Given the description of an element on the screen output the (x, y) to click on. 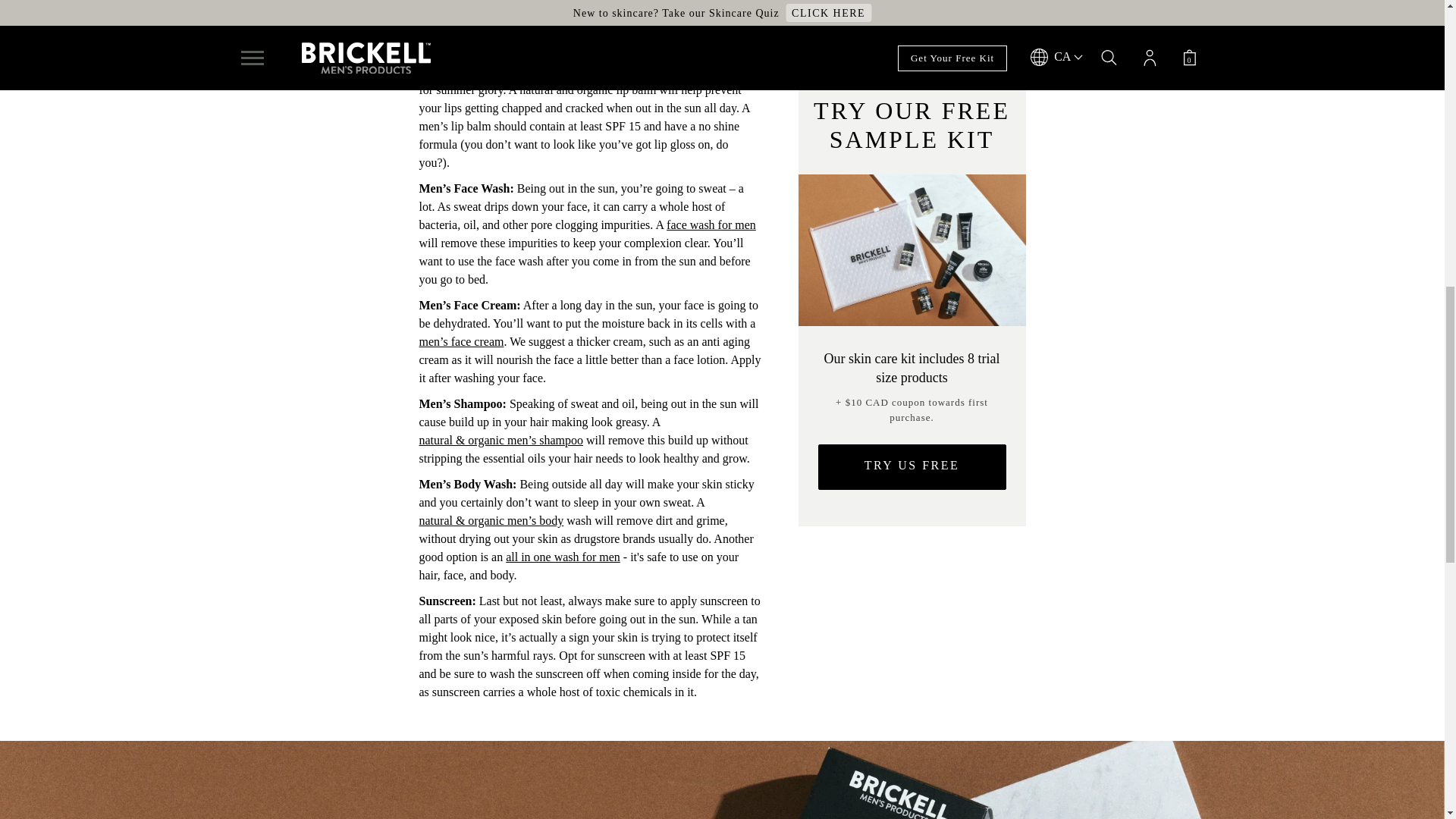
Organic lip balm for men (565, 72)
Organic and natural face wash for men (710, 225)
Men's face cream (461, 341)
Men's grooming and skin care products (514, 27)
all in one wash for men (562, 556)
